Given the description of an element on the screen output the (x, y) to click on. 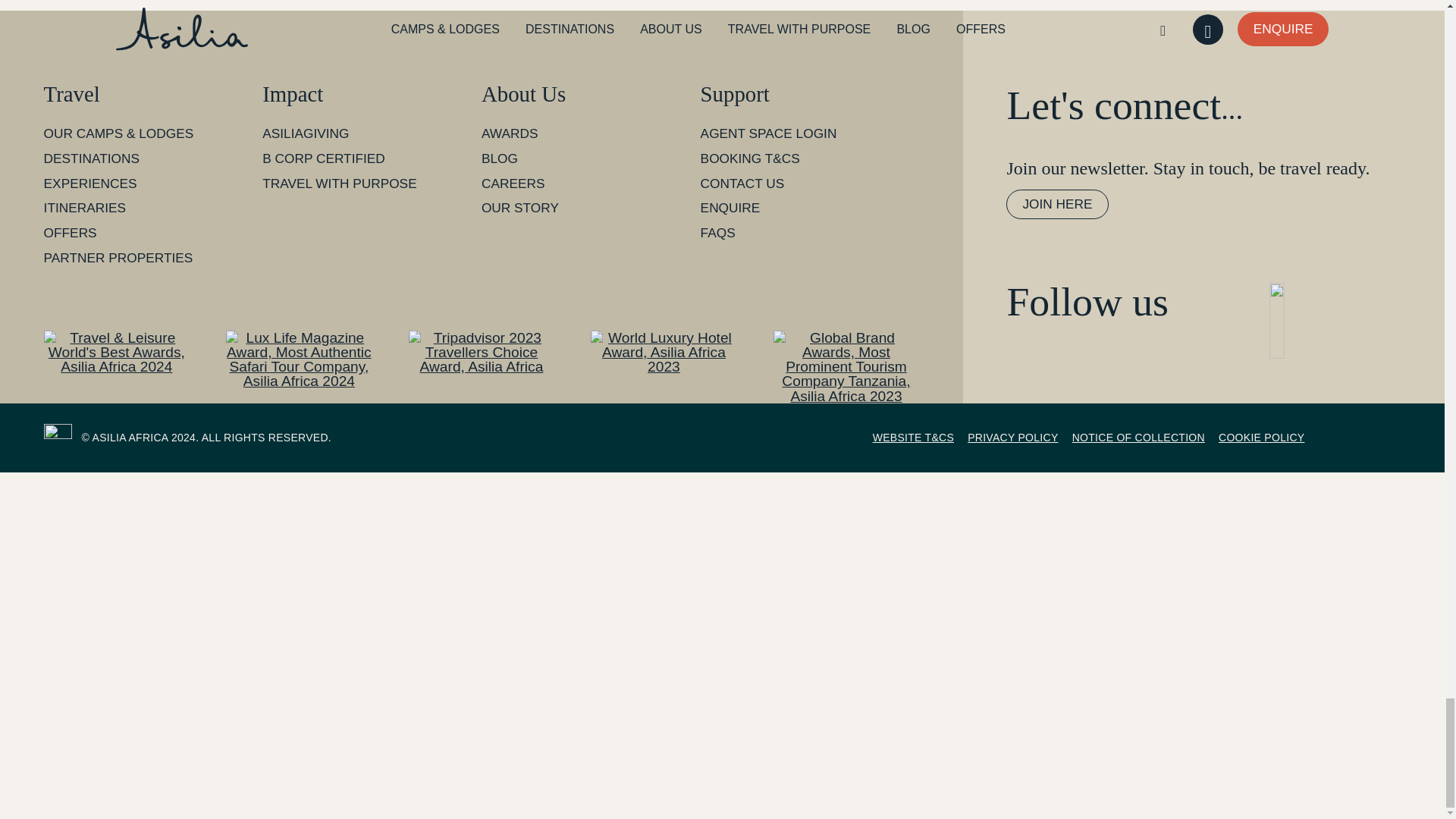
DESTINATIONS (91, 158)
EXPERIENCES (89, 183)
